Given the description of an element on the screen output the (x, y) to click on. 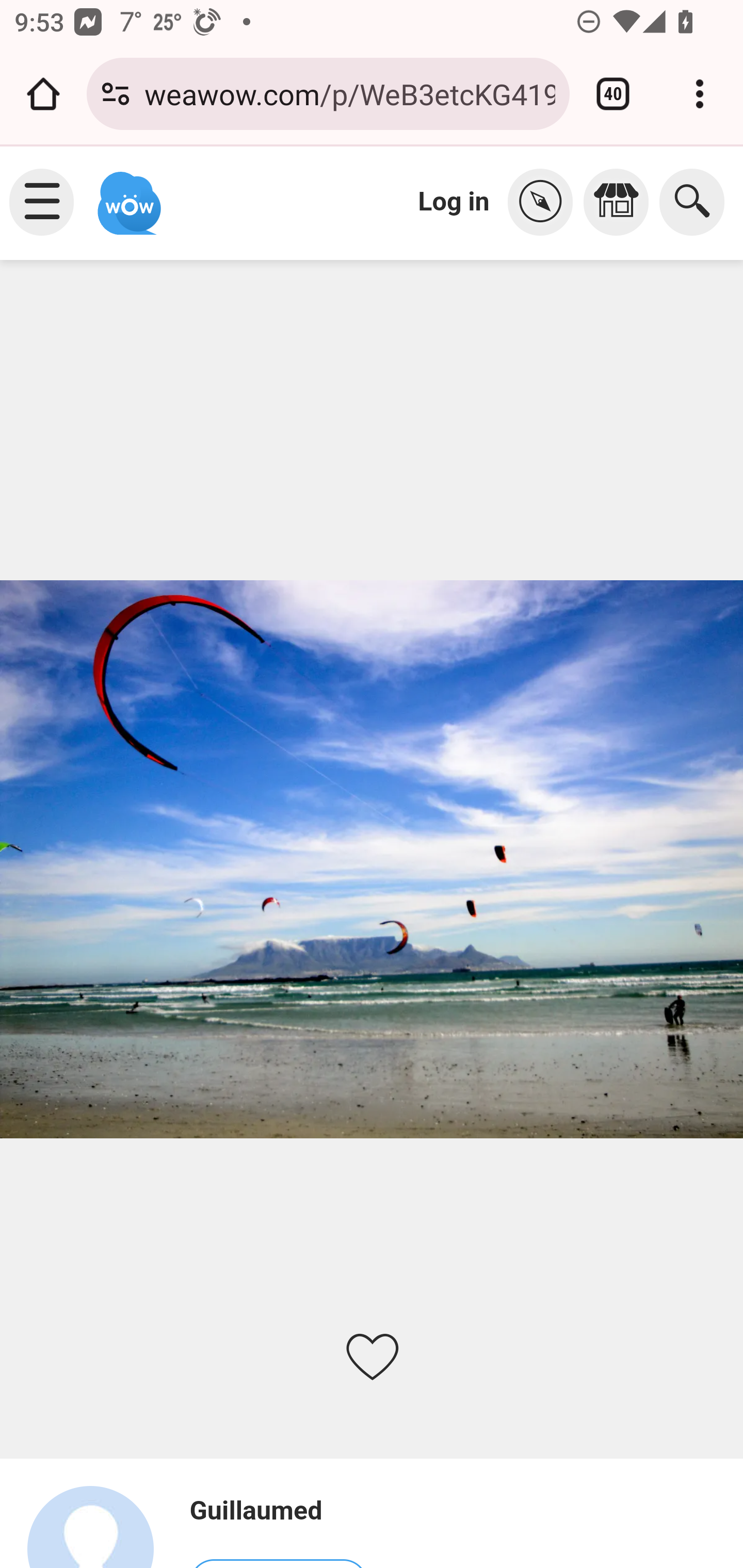
Open the home page (43, 93)
Connection is secure (115, 93)
Switch or close tabs (612, 93)
Customize and control Google Chrome (699, 93)
weawow.com/p/WeB3etcKG4190547 (349, 92)
Weawow (127, 194)
 (545, 201)
 (621, 201)
Log in (453, 201)
Guillaumed (99, 1525)
Guillaumed (277, 1510)
